Given the description of an element on the screen output the (x, y) to click on. 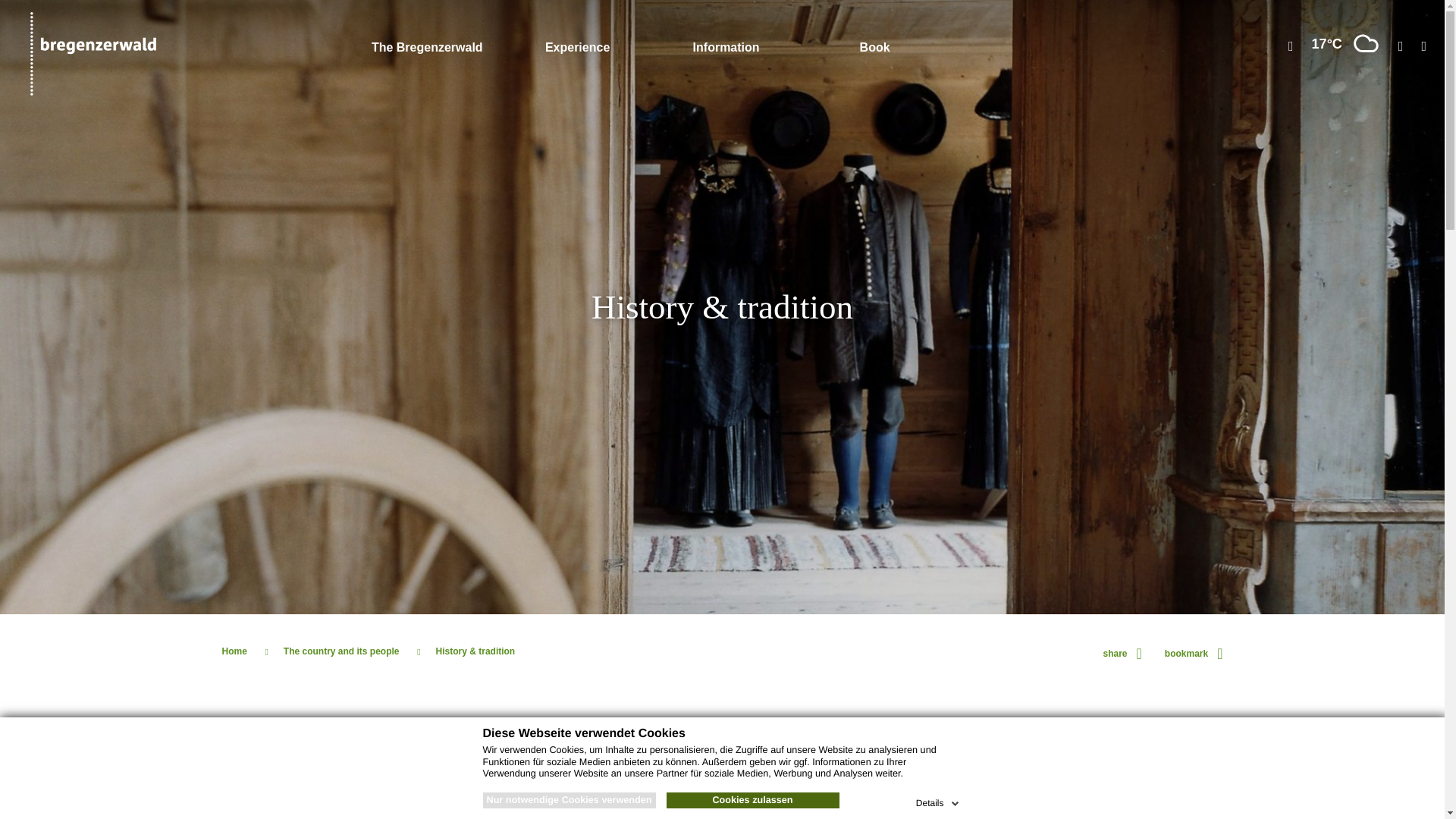
Nur notwendige Cookies verwenden (568, 800)
Cookies zulassen (751, 800)
Details (938, 800)
